Given the description of an element on the screen output the (x, y) to click on. 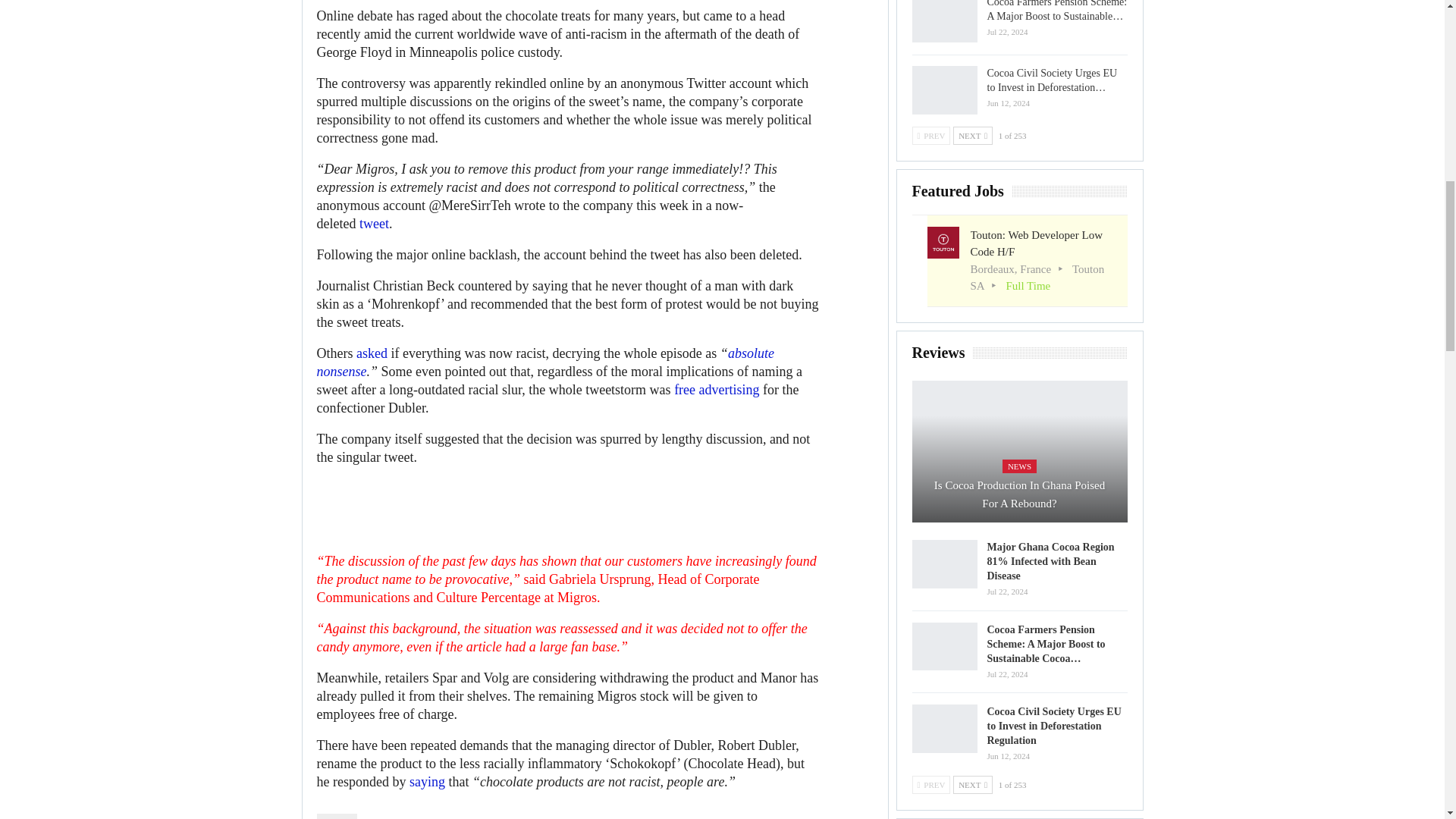
Next (972, 135)
Previous (930, 135)
Is Cocoa Production in Ghana Poised for a Rebound? (1019, 451)
